Given the description of an element on the screen output the (x, y) to click on. 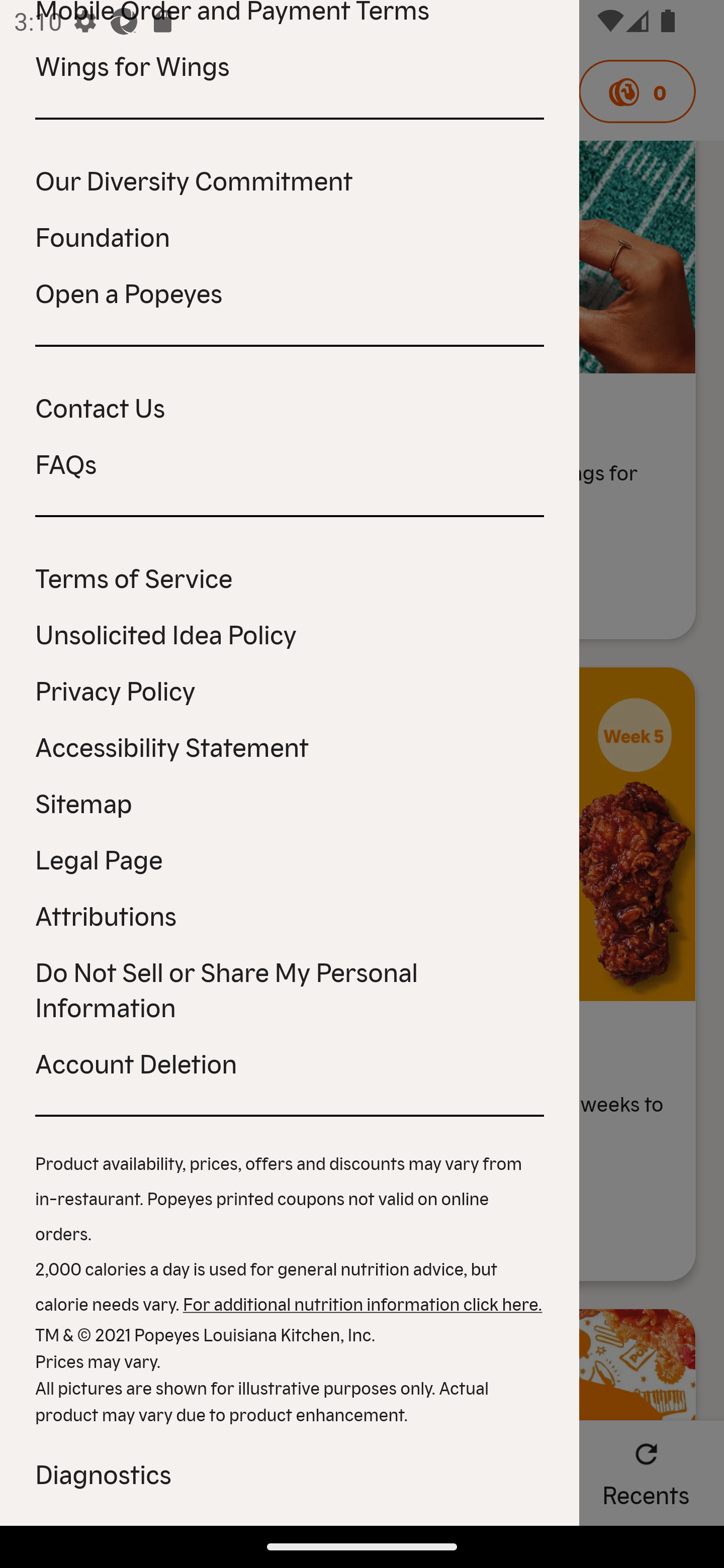
Wings for Wings (289, 65)
Our Diversity Commitment (289, 179)
Foundation (289, 235)
Open a Popeyes (289, 291)
Contact Us (289, 406)
FAQs (289, 462)
Terms of Service (289, 576)
Unsolicited Idea Policy (289, 633)
Privacy Policy (289, 689)
Accessibility Statement (289, 745)
Sitemap (289, 802)
Legal Page (289, 858)
Attributions (289, 914)
Do Not Sell or Share My Personal Information (289, 988)
Account Deletion (289, 1062)
Diagnostics (289, 1473)
